Given the description of an element on the screen output the (x, y) to click on. 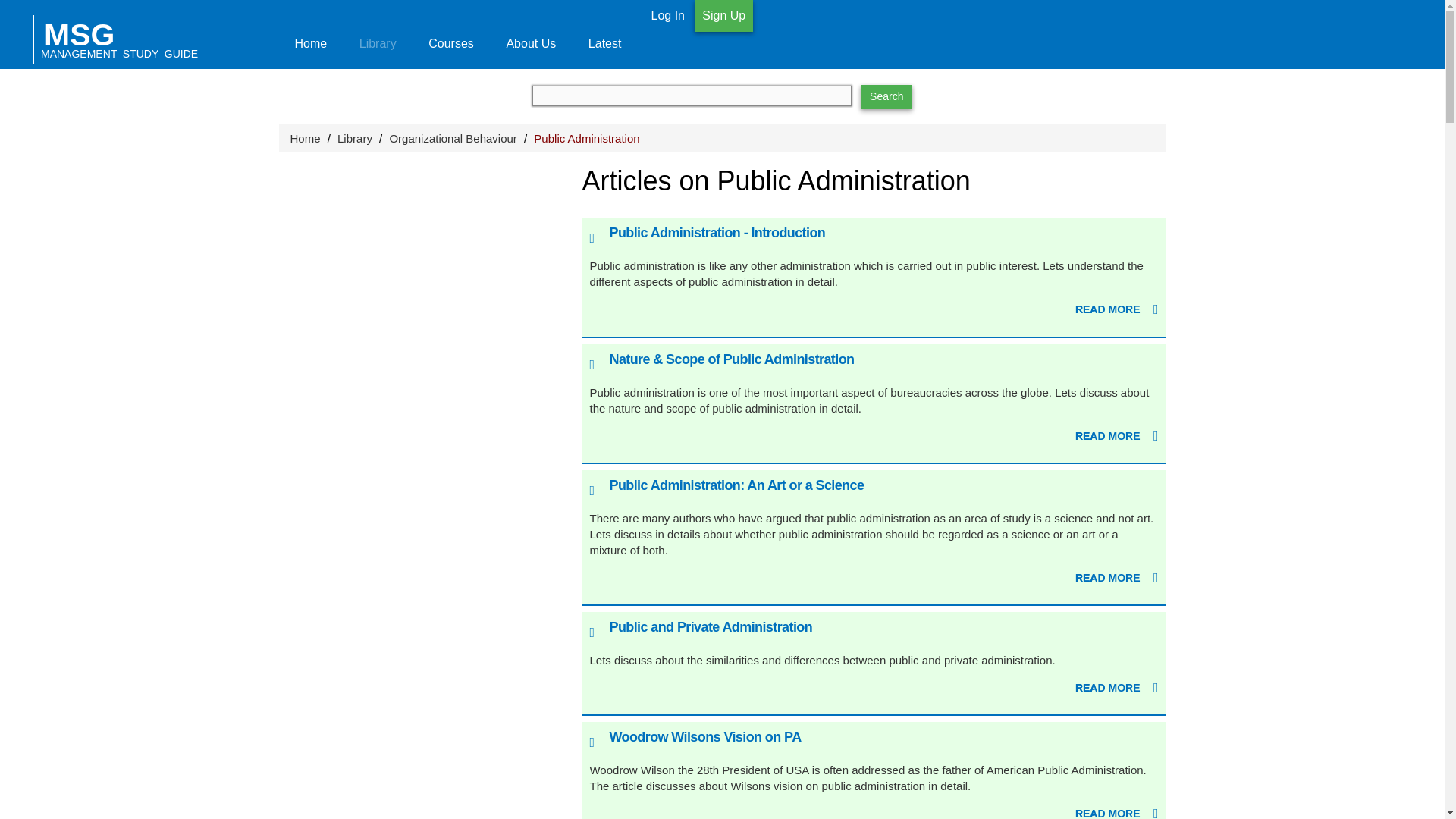
Sign Up (723, 15)
READ MORE (1116, 578)
Search (886, 96)
READ MORE (1116, 309)
Public and Private Administration (710, 626)
Log In (667, 15)
Sign Up (723, 15)
Latest (604, 34)
READ MORE (1116, 688)
Woodrow Wilsons Vision on PA (704, 736)
Library (354, 137)
Public Administration: An Art or a Science (735, 485)
